Given the description of an element on the screen output the (x, y) to click on. 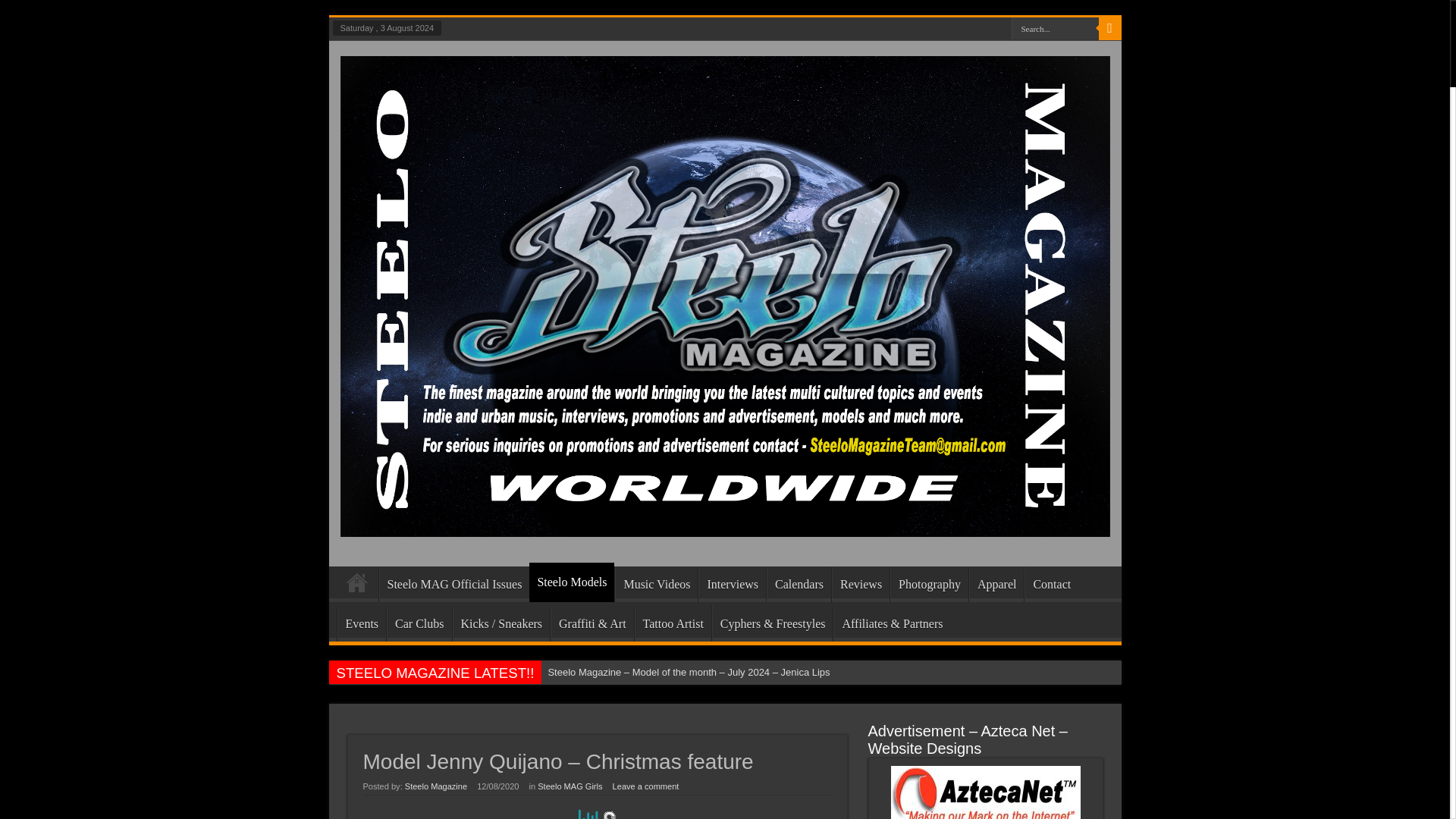
Apparel (997, 583)
Tattoo Artist (672, 623)
Steelo Magazine (724, 524)
Calendars (799, 583)
Home (357, 586)
Interviews (731, 583)
Photography (928, 583)
Reviews (860, 583)
Events (360, 623)
Steelo MAG Official Issues (453, 583)
Search... (1055, 28)
Contact (1051, 583)
Car Clubs (419, 623)
Steelo Models (571, 581)
Search (1109, 28)
